Given the description of an element on the screen output the (x, y) to click on. 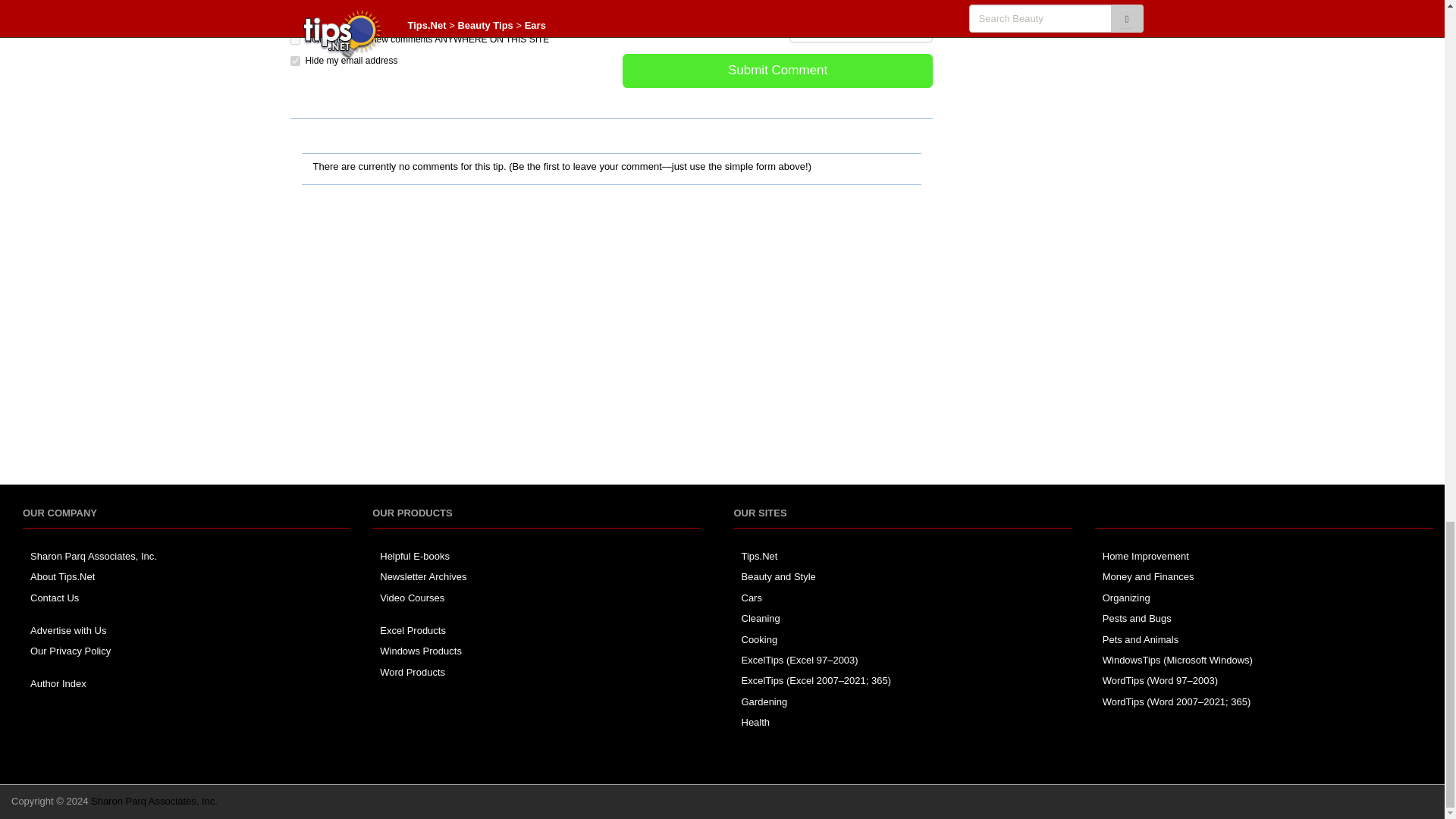
Beauty and Style (778, 576)
Newsletter Archives (422, 576)
option1 (294, 18)
Submit Comment (778, 70)
Tips.Net (759, 555)
Our Privacy Policy (70, 650)
Sharon Parq Associates, Inc. (93, 555)
Cars (751, 597)
Word Products (412, 672)
Author Index (57, 683)
option3 (294, 61)
Cooking (759, 639)
Contact Us (54, 597)
Advertise with Us (68, 630)
Excel Products (412, 630)
